Given the description of an element on the screen output the (x, y) to click on. 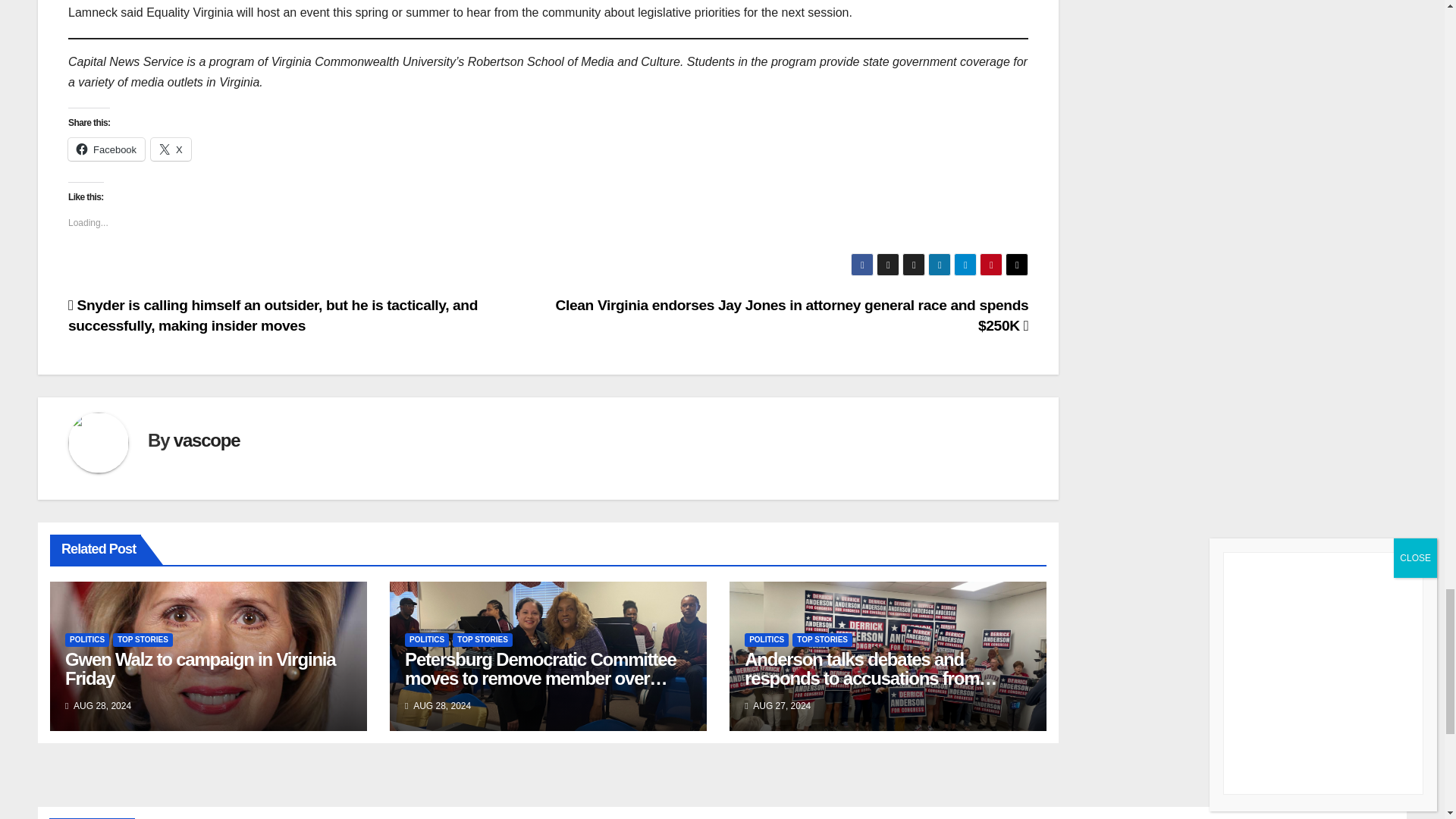
Permalink to: Gwen Walz to campaign in Virginia Friday (199, 668)
Click to share on Facebook (106, 149)
Click to share on X (170, 149)
